Given the description of an element on the screen output the (x, y) to click on. 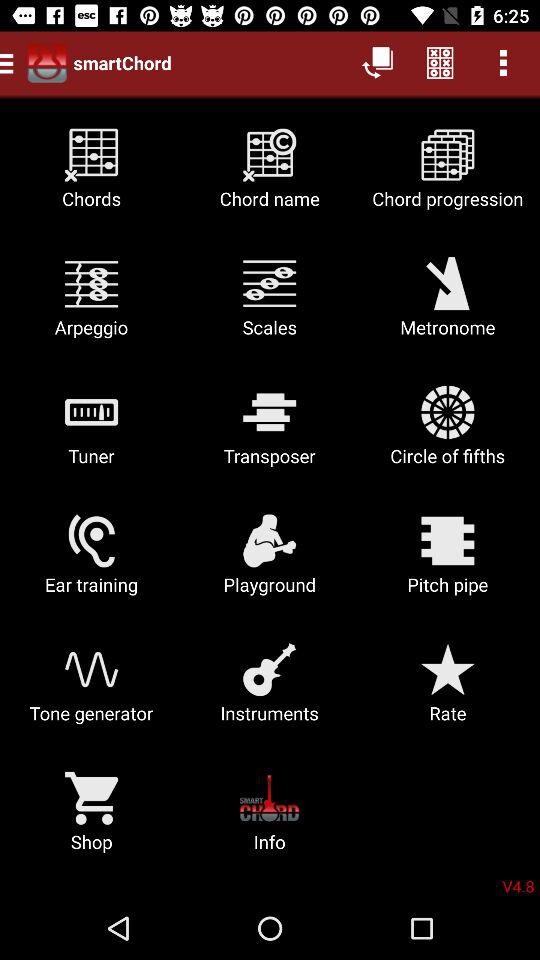
click the item next to chord name (91, 175)
